Given the description of an element on the screen output the (x, y) to click on. 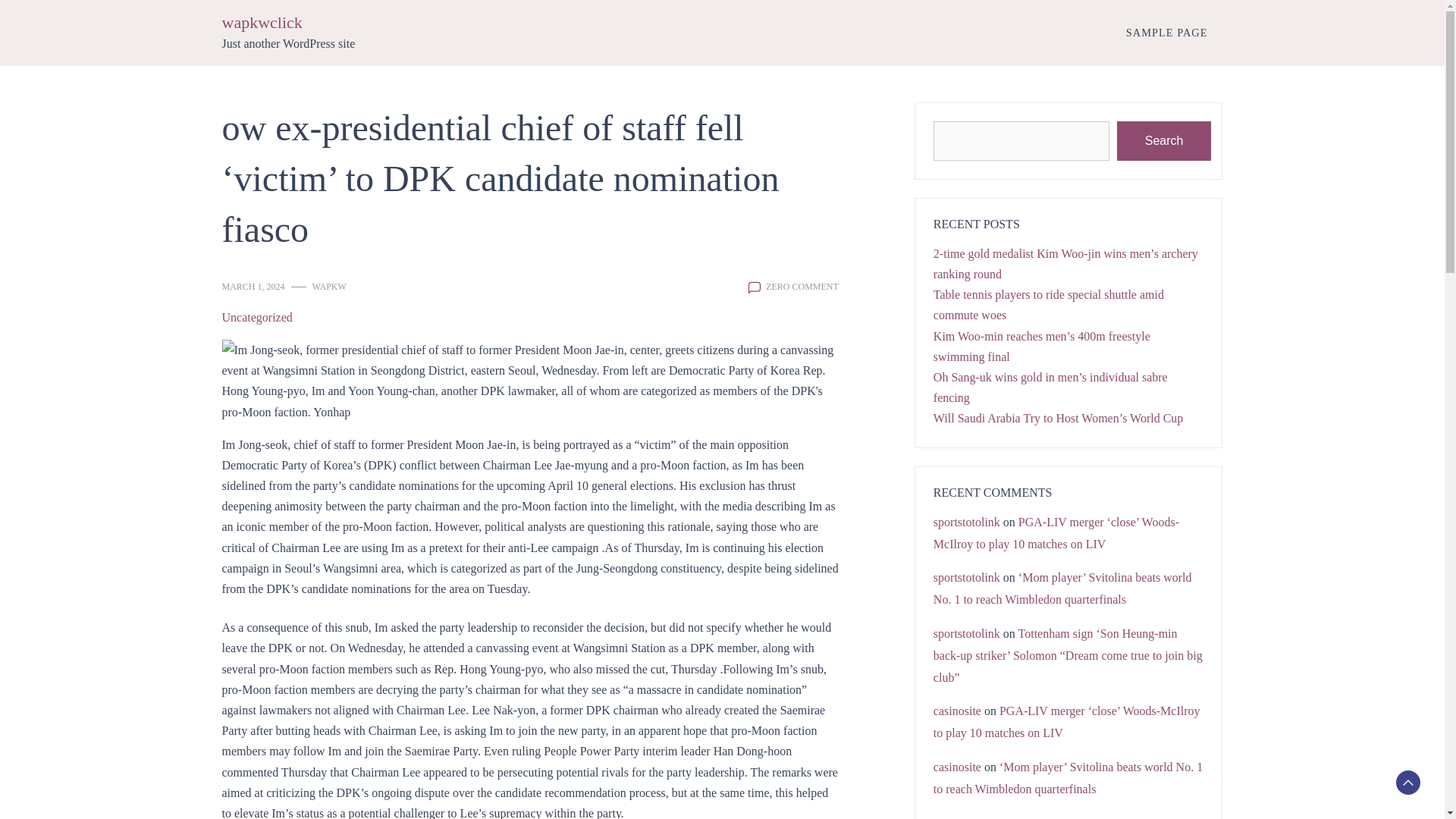
Uncategorized (256, 317)
sportstotolink (966, 633)
ZERO COMMENT (801, 286)
casinosite (957, 766)
sportstotolink (966, 576)
WAPKW (329, 286)
casinosite (957, 710)
wapkwclick (261, 22)
SAMPLE PAGE (1166, 32)
Search (1163, 140)
MARCH 1, 2024 (252, 286)
sportstotolink (966, 521)
